Given the description of an element on the screen output the (x, y) to click on. 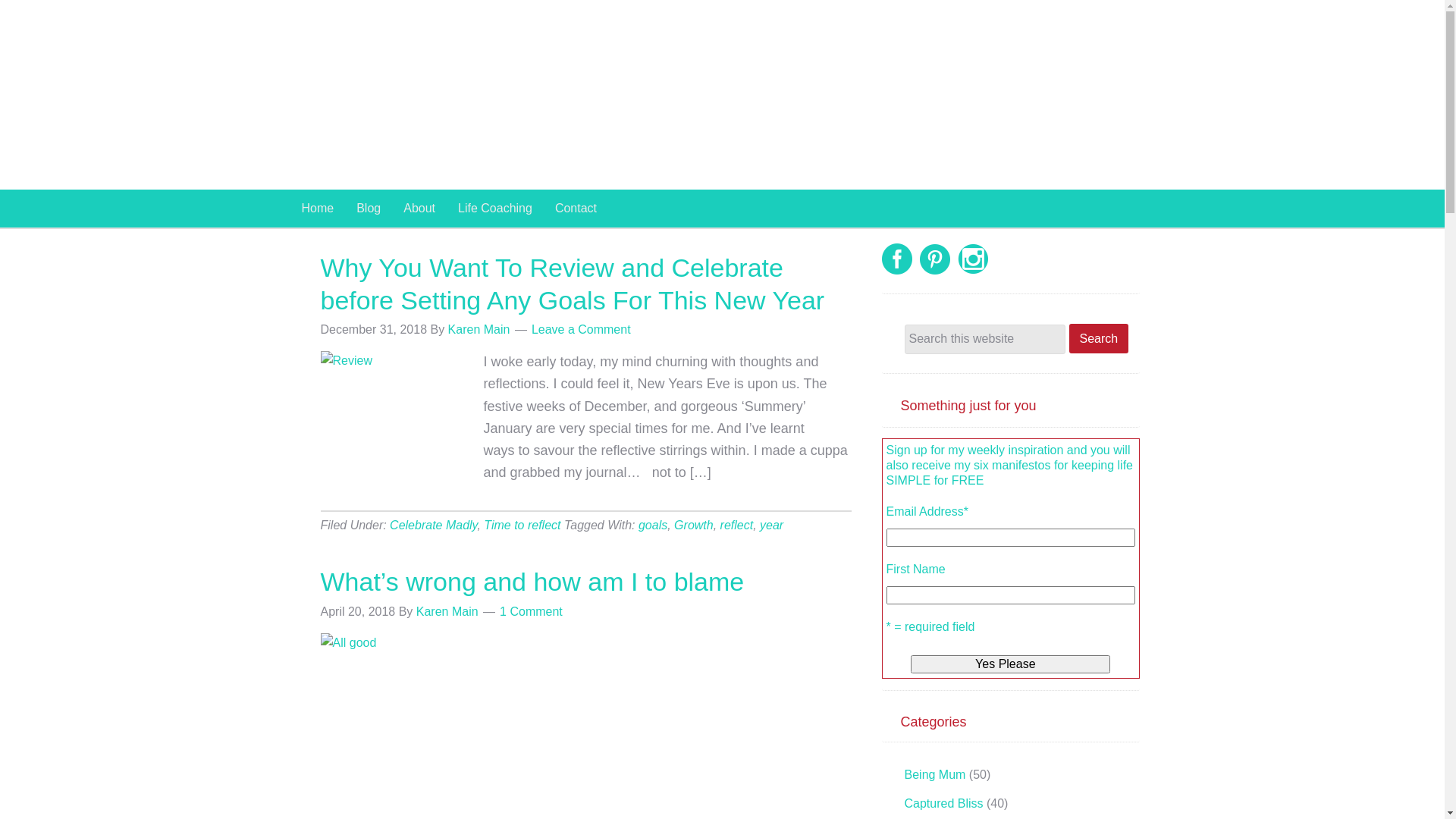
Search Element type: text (1099, 338)
Yes Please    Element type: text (1009, 664)
year Element type: text (771, 524)
Captured Bliss Element type: text (942, 803)
Celebrate Madly Element type: text (432, 524)
reflect Element type: text (736, 524)
About Element type: text (419, 208)
Karen Main Element type: text (630, 94)
1 Comment Element type: text (530, 611)
Leave a Comment Element type: text (580, 329)
Being Mum Element type: text (934, 774)
Home Element type: text (317, 208)
goals Element type: text (652, 524)
Karen Main Element type: text (479, 329)
Blog Element type: text (368, 208)
Time to reflect Element type: text (521, 524)
Contact Element type: text (575, 208)
Life Coaching Element type: text (494, 208)
Karen Main Element type: text (447, 611)
Growth Element type: text (693, 524)
